Given the description of an element on the screen output the (x, y) to click on. 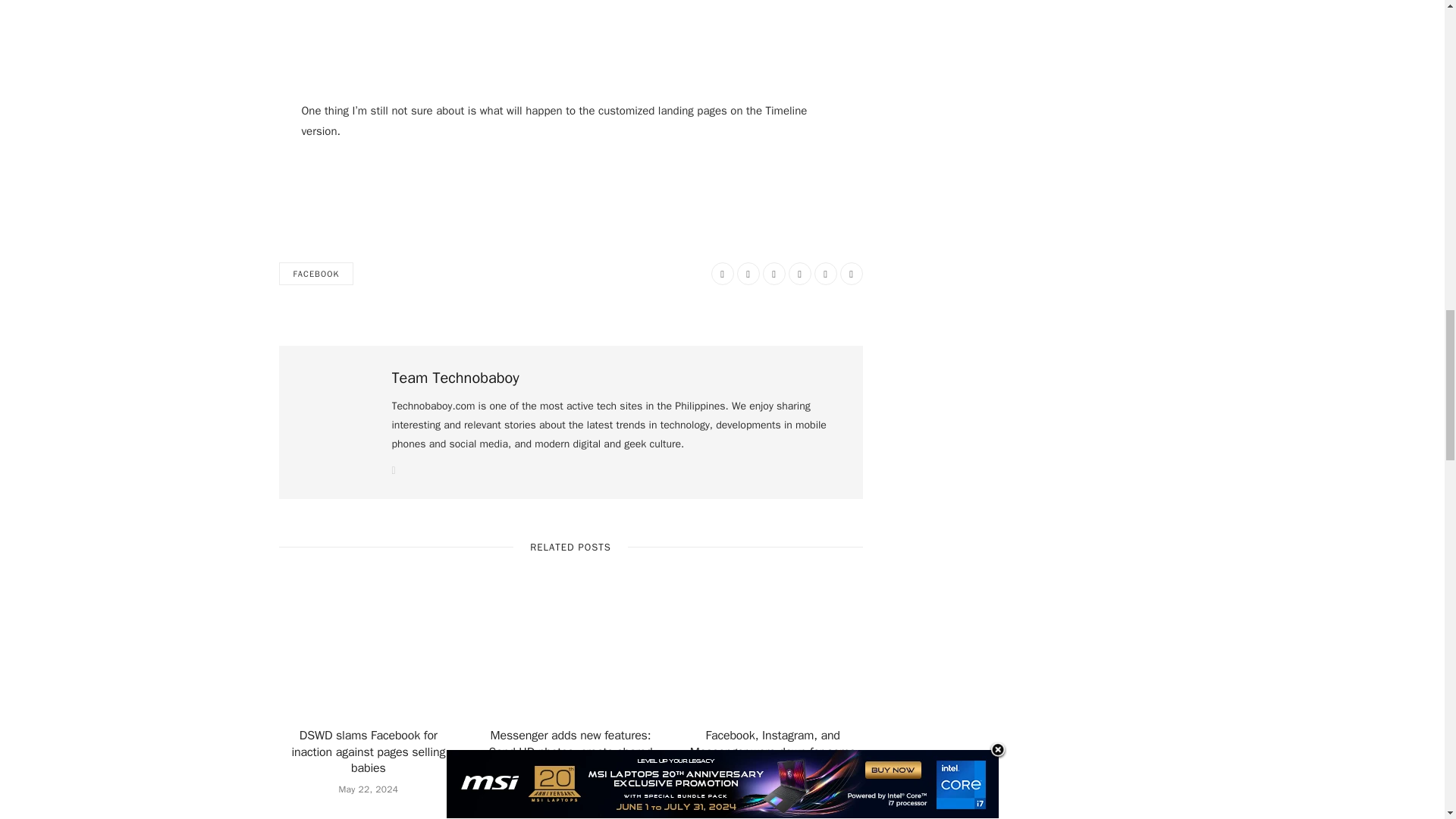
LinkedIn (825, 273)
FACEBOOK (316, 273)
Facebook, Instagram, and Messenger were down for some users (773, 751)
May 22, 2024 (367, 788)
March 6, 2024 (773, 788)
Team Technobaboy (454, 378)
timeline-facebook-pages (570, 18)
Reddit (774, 273)
Email (851, 273)
Facebook (722, 273)
